Given the description of an element on the screen output the (x, y) to click on. 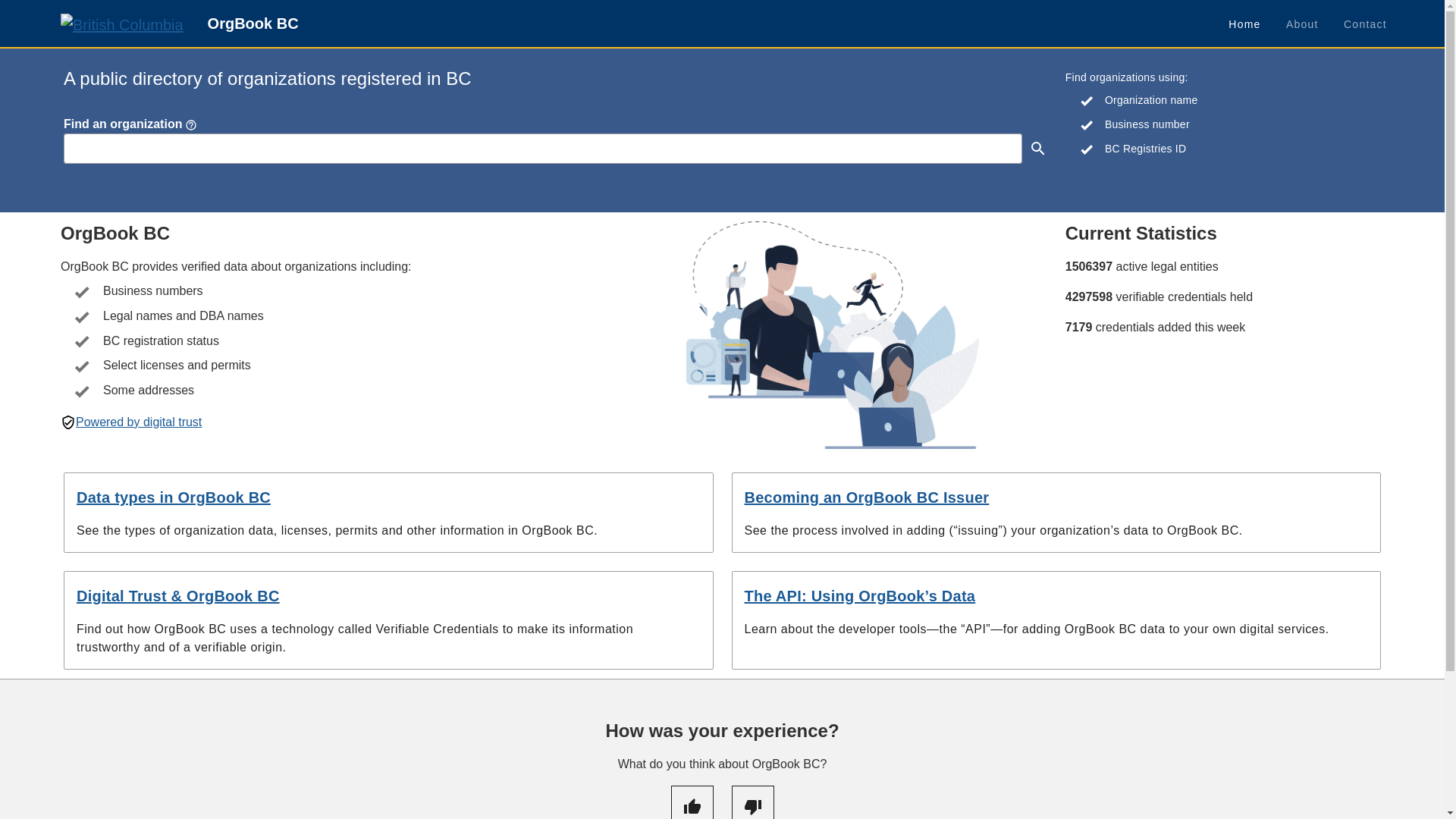
Contact Element type: text (1364, 23)
Becoming an OrgBook BC Issuer Element type: text (866, 497)
Home Element type: text (1244, 23)
Powered by digital trust Element type: text (138, 421)
Digital Trust & OrgBook BC Element type: text (177, 595)
About Element type: text (1301, 23)
Data types in OrgBook BC Element type: text (173, 497)
